Given the description of an element on the screen output the (x, y) to click on. 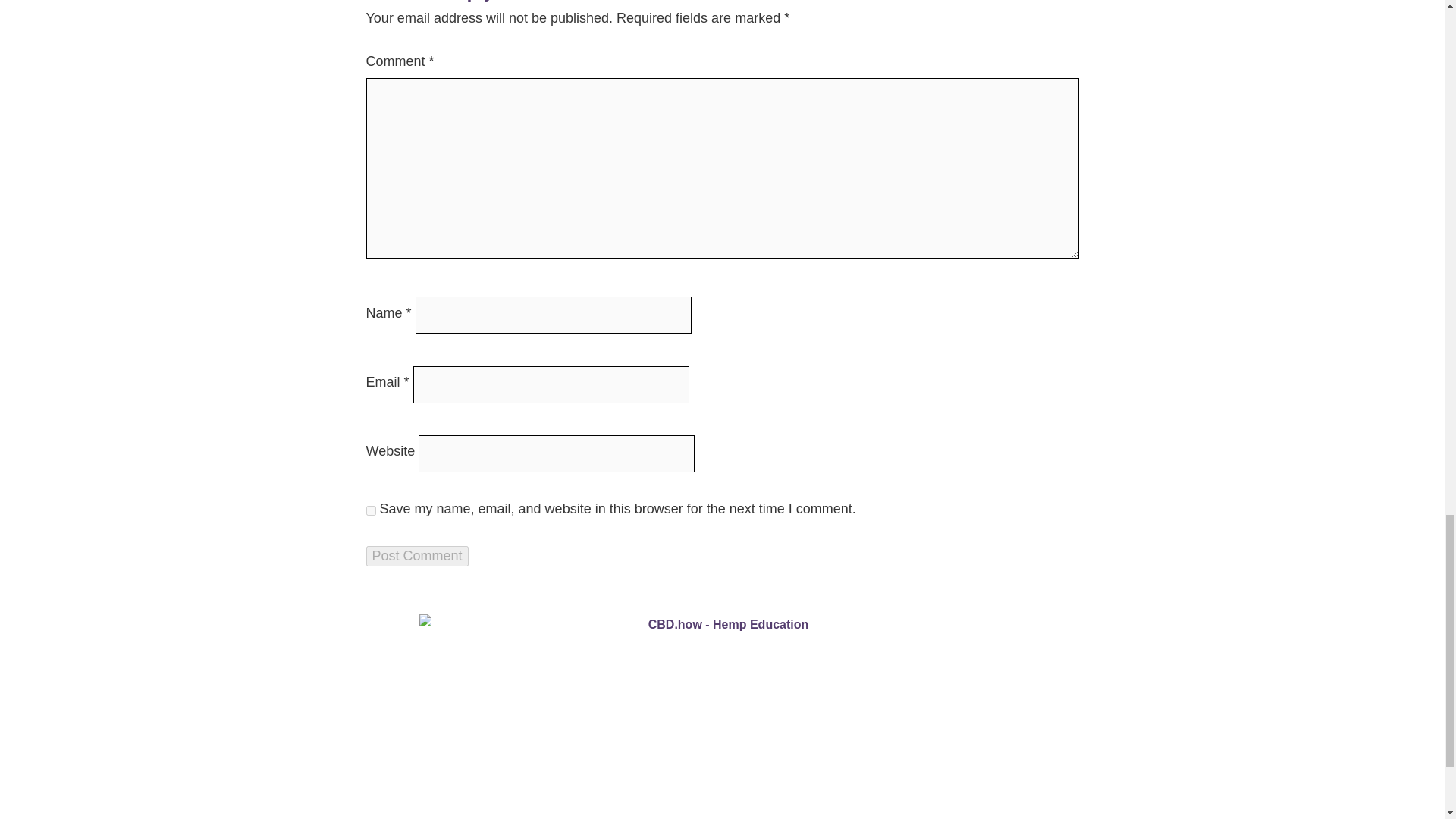
Post Comment (416, 556)
Post Comment (416, 556)
yes (370, 510)
